Given the description of an element on the screen output the (x, y) to click on. 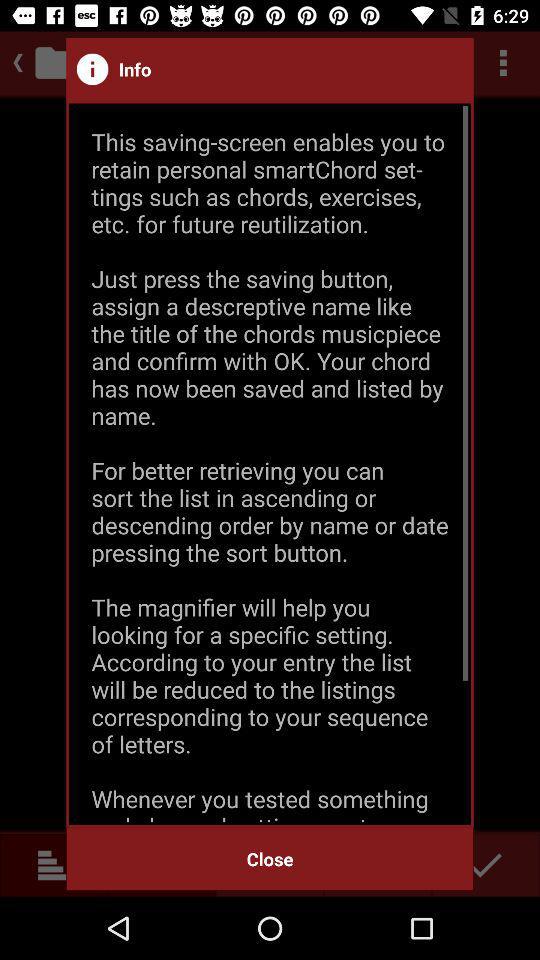
flip to close icon (269, 858)
